Given the description of an element on the screen output the (x, y) to click on. 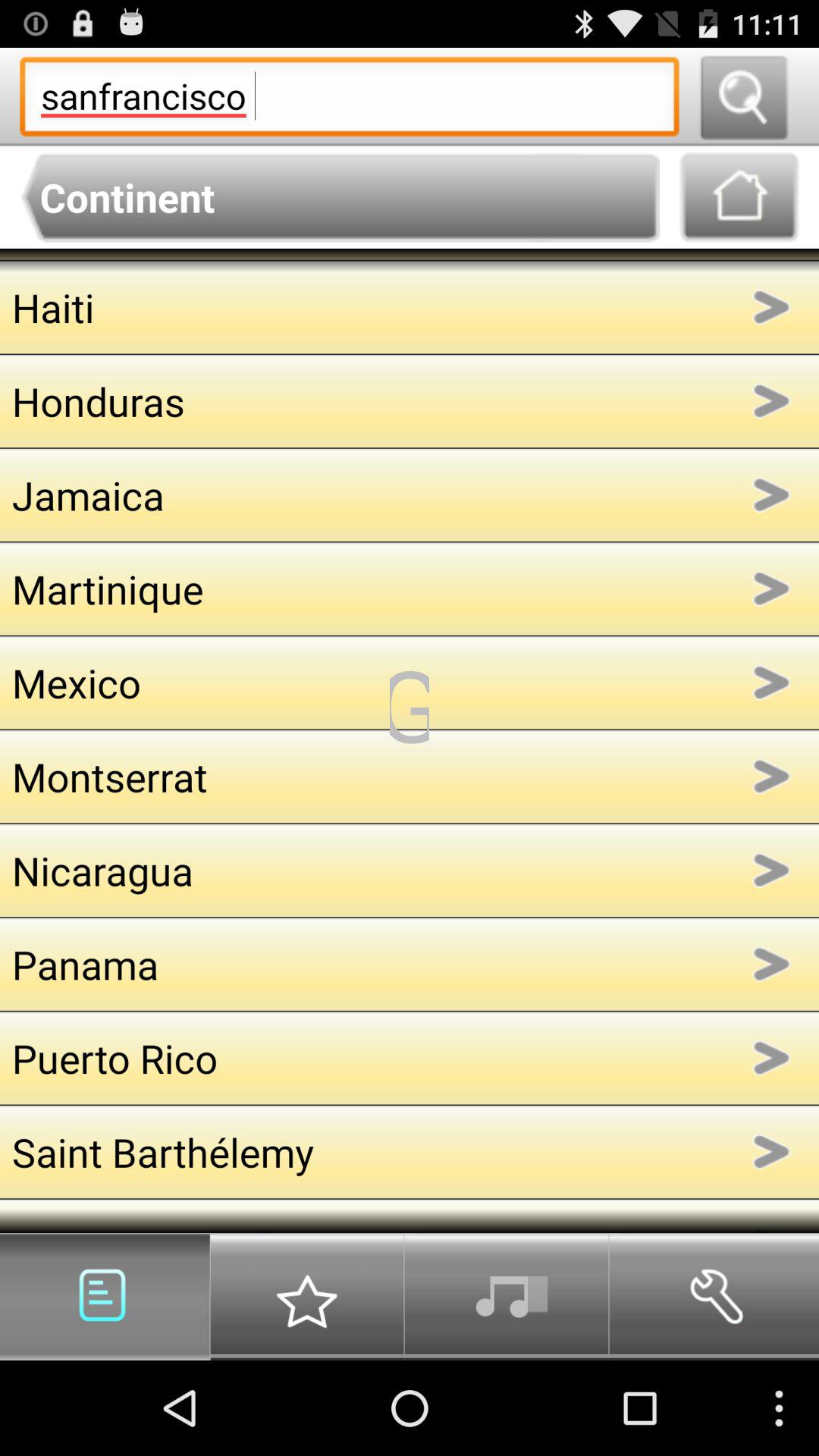
home (739, 197)
